Given the description of an element on the screen output the (x, y) to click on. 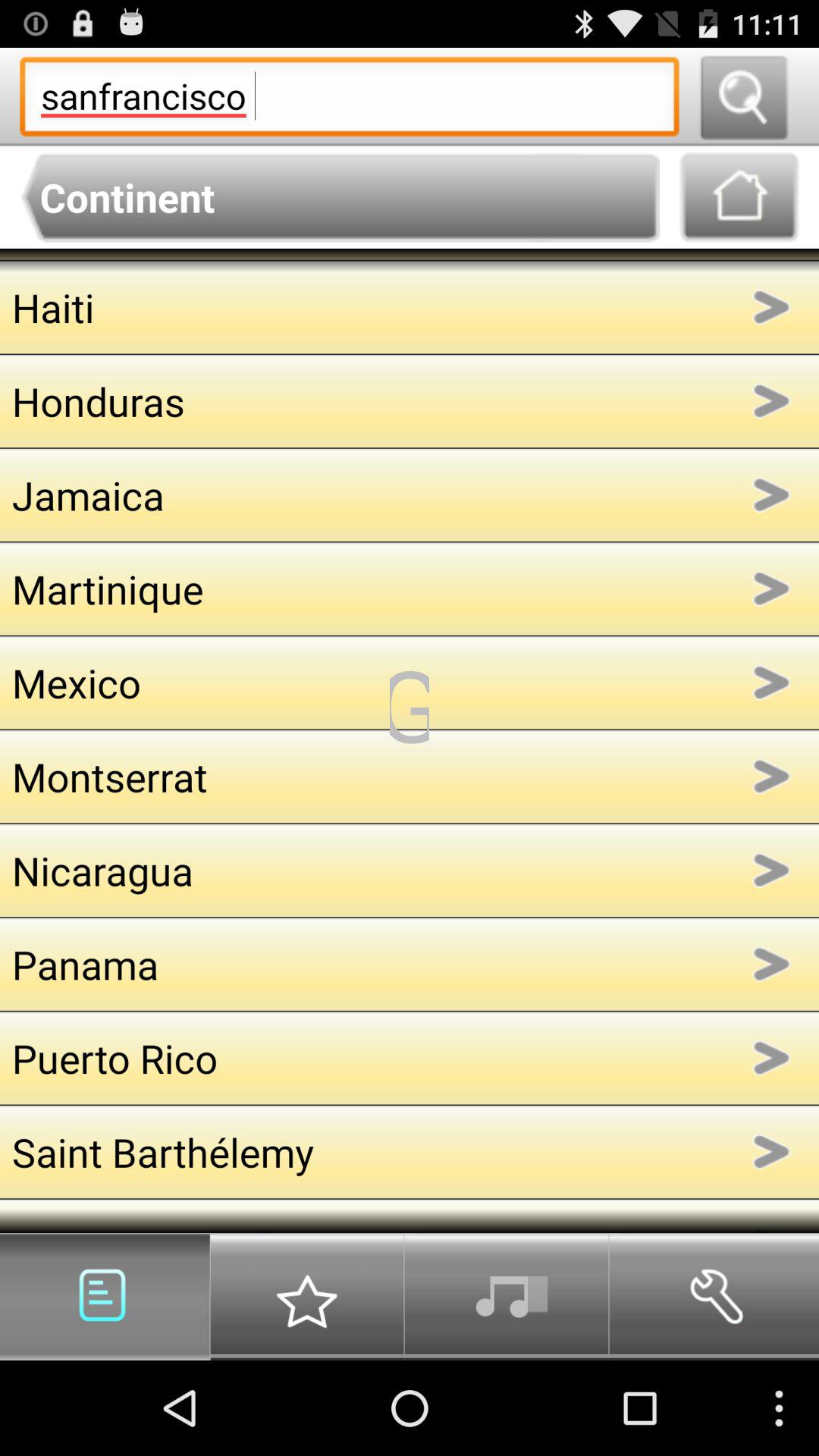
home (739, 197)
